Given the description of an element on the screen output the (x, y) to click on. 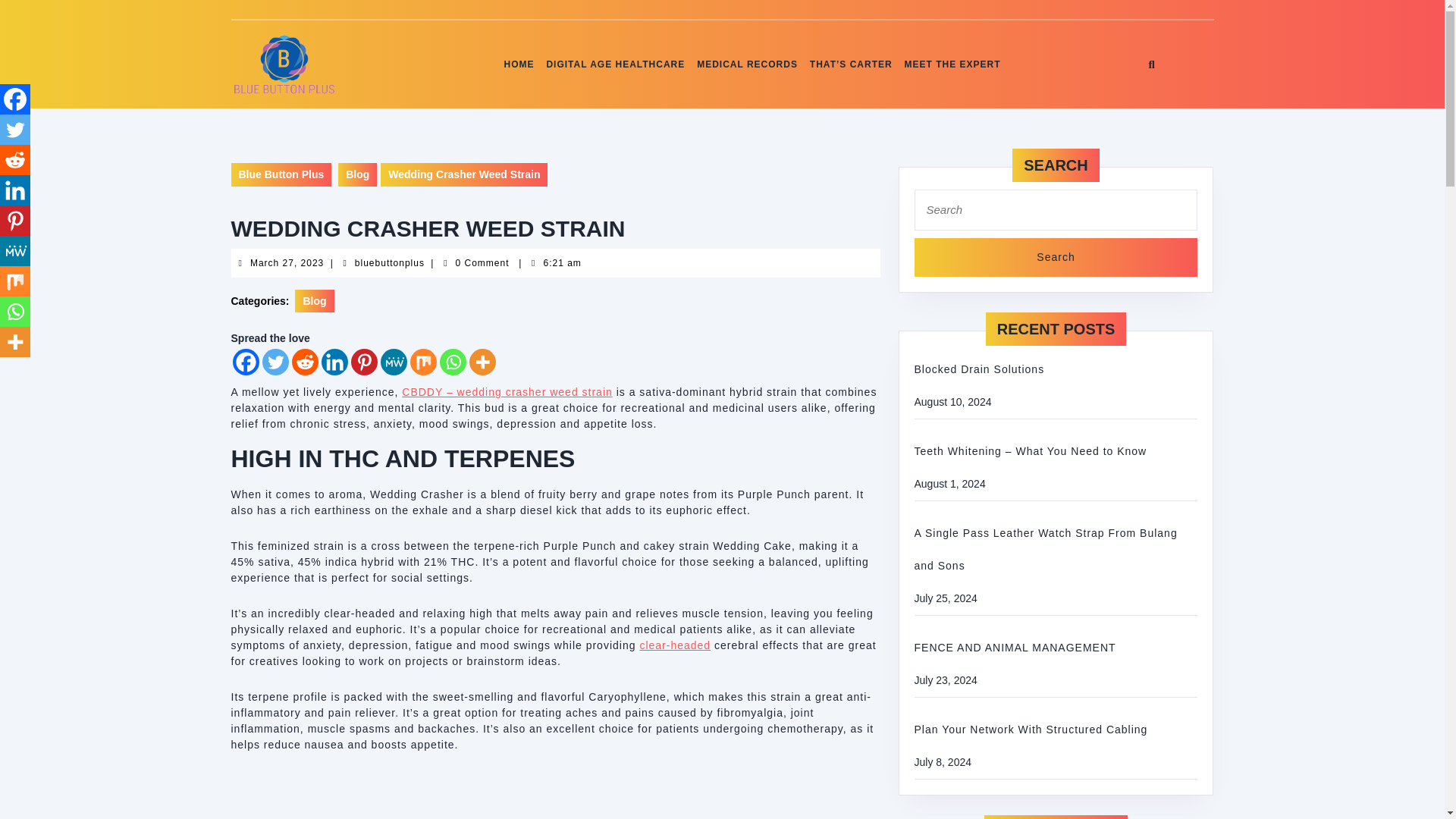
Linkedin (286, 262)
Blog (15, 190)
Blue Button Plus (357, 174)
Linkedin (280, 174)
Search (334, 361)
Search (1056, 257)
HOME (1056, 257)
Facebook (518, 64)
Reddit (245, 361)
